Given the description of an element on the screen output the (x, y) to click on. 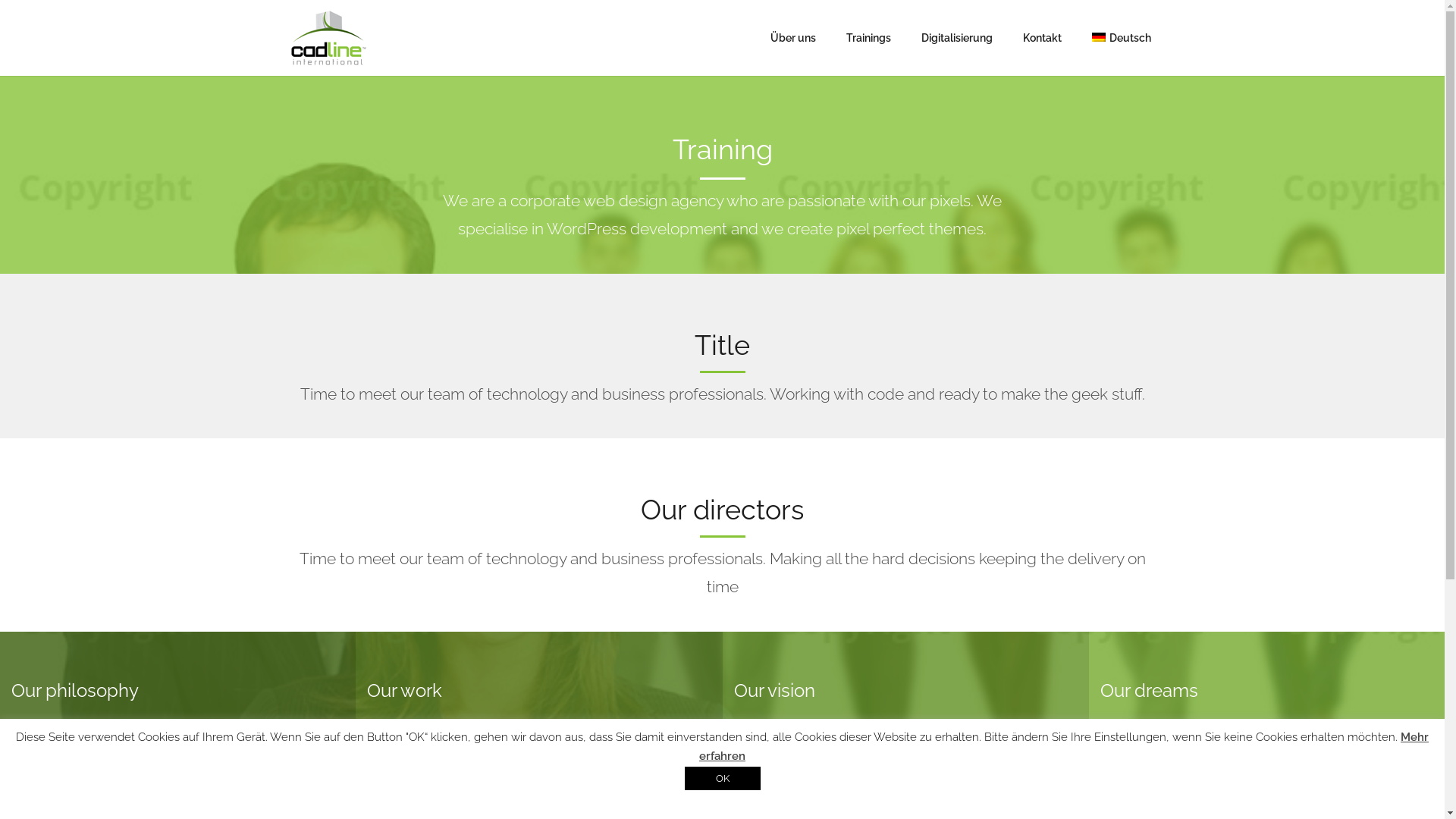
Mehr erfahren Element type: text (1063, 746)
Kontakt Element type: text (1041, 37)
Deutsch Element type: text (1120, 37)
Trainings Element type: text (868, 37)
Digitalisierung Element type: text (956, 37)
OK Element type: text (721, 778)
